Given the description of an element on the screen output the (x, y) to click on. 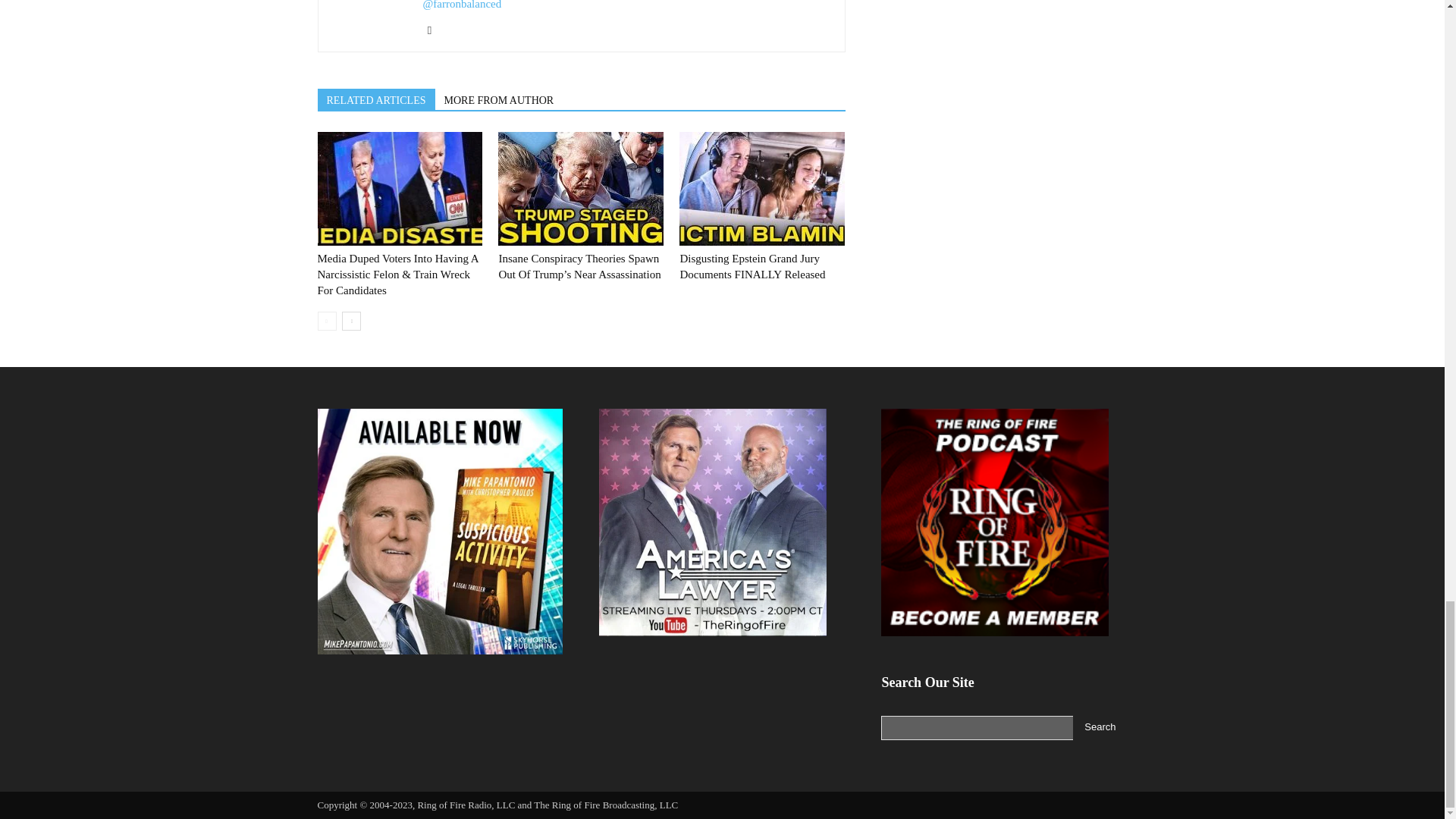
Twitter (435, 30)
Search (1099, 727)
